Given the description of an element on the screen output the (x, y) to click on. 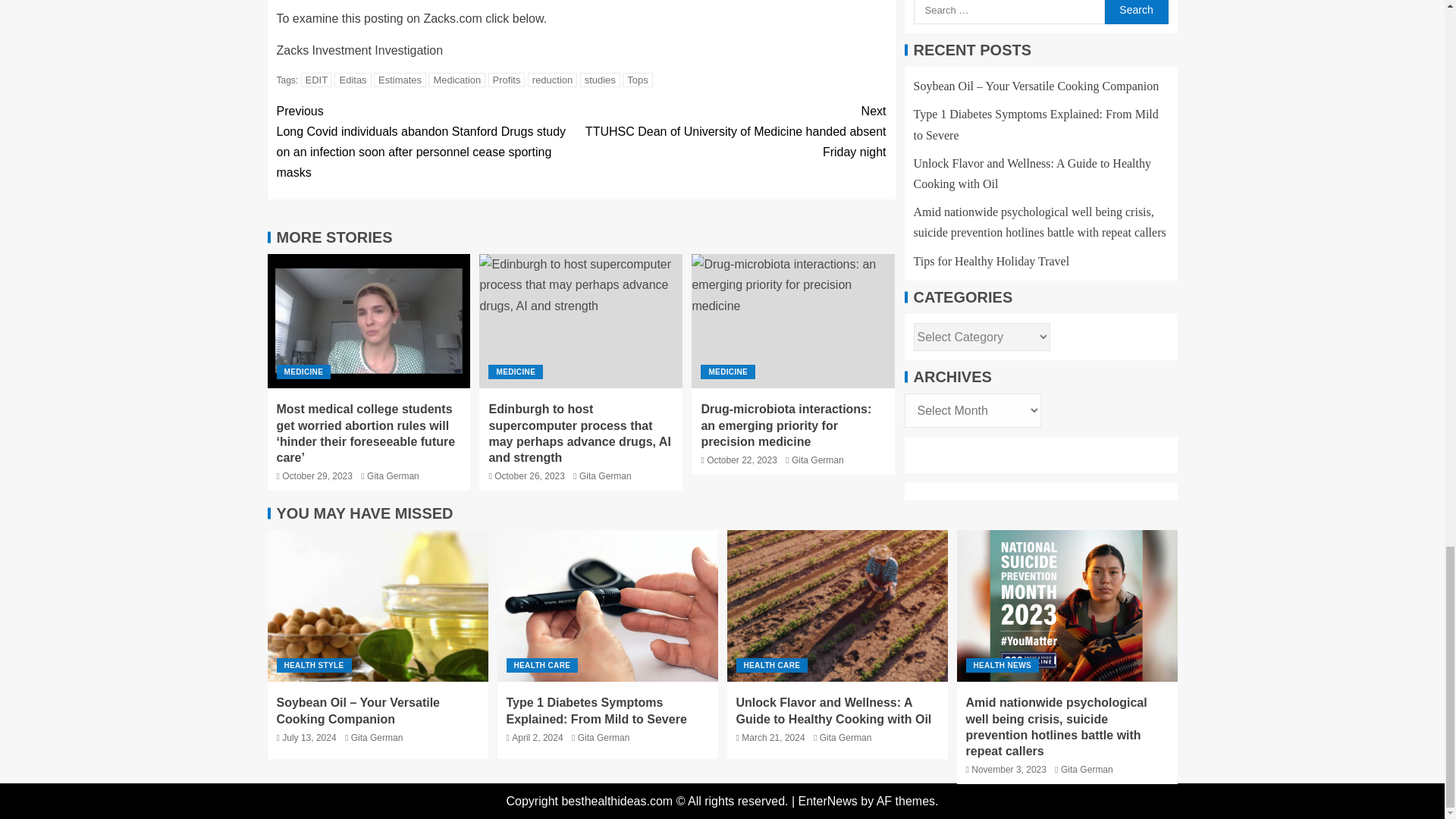
To examine this posting on Zacks.com click below. (411, 18)
Profits (506, 79)
studies (599, 79)
Zacks Investment Investigation (359, 50)
reduction (551, 79)
Editas (352, 79)
Tops (637, 79)
Estimates (400, 79)
EDIT (317, 79)
